Given the description of an element on the screen output the (x, y) to click on. 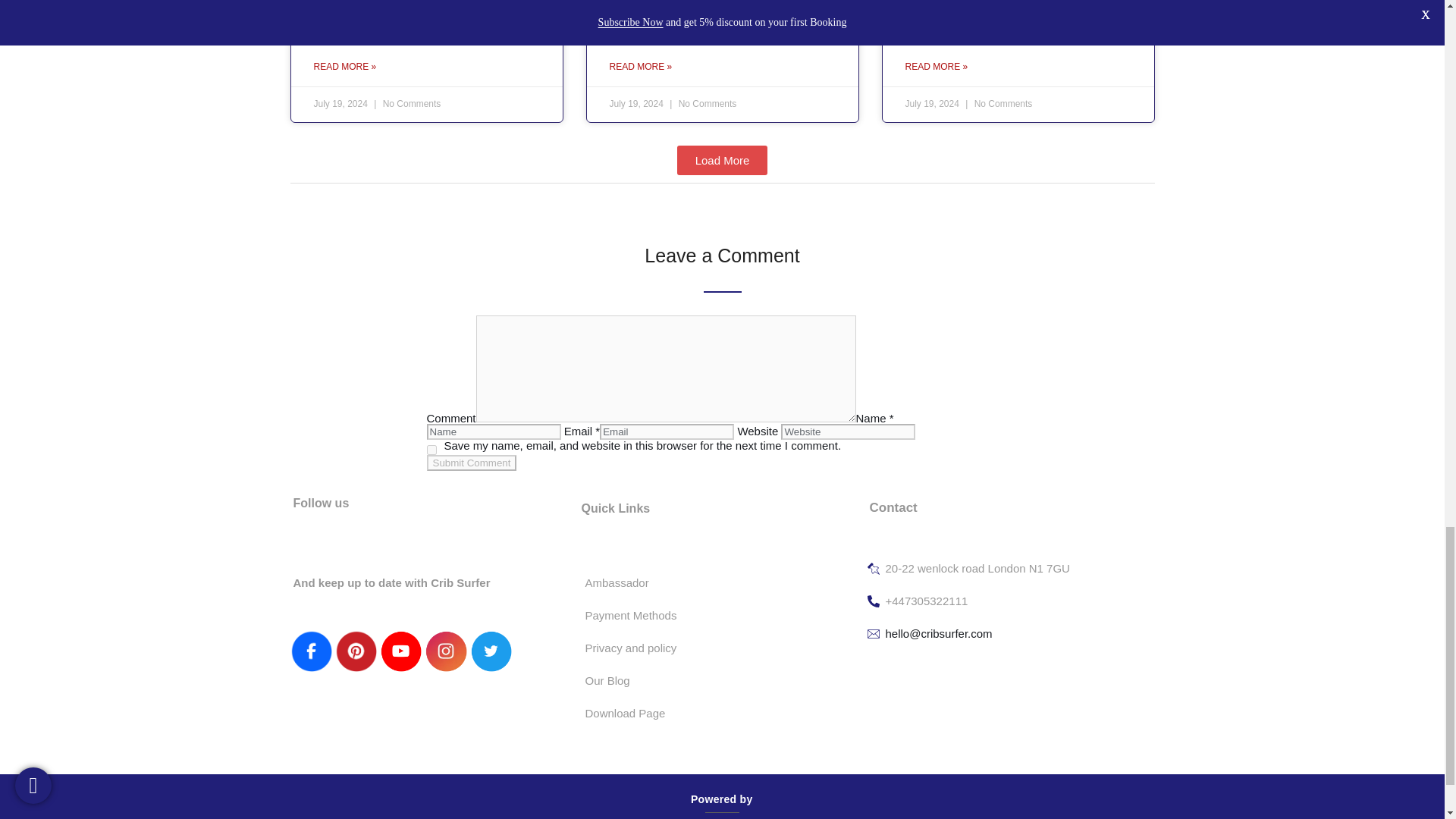
Submit Comment (471, 462)
yes (430, 450)
